Given the description of an element on the screen output the (x, y) to click on. 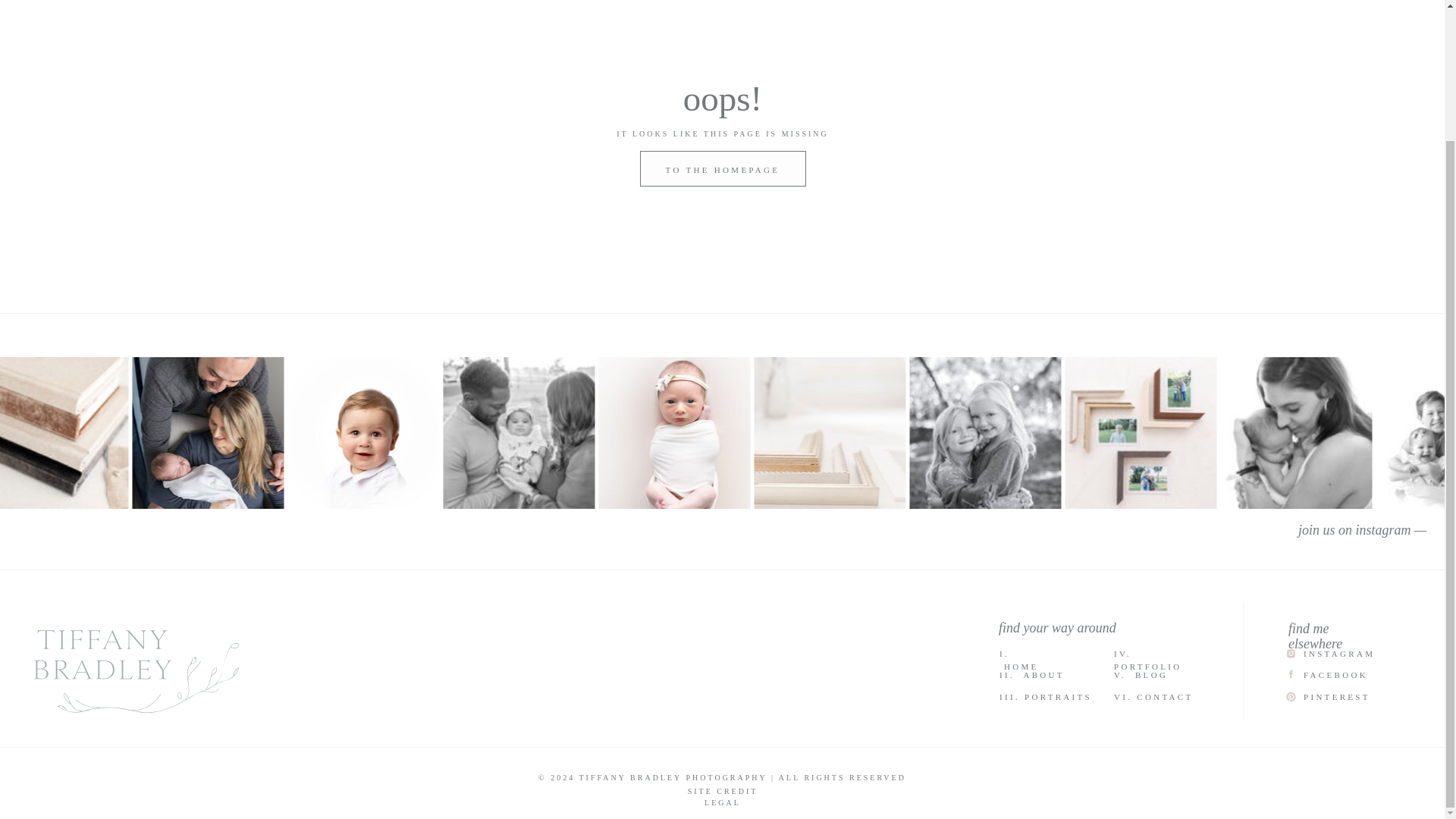
baby-photographer-savannah-georgia-10 (673, 432)
find your way around (1083, 626)
III. PORTRAITS (1045, 696)
TO THE HOMEPAGE (722, 177)
II.  ABOUT (1040, 674)
I.   HOME (1027, 653)
VI. CONTACT (1164, 696)
frame-corners-2 (829, 432)
outdoor-baby-session-savannah-georgia-2.jpg (518, 432)
find me elsewhere (1334, 627)
savannah-ga-newborn-photography-11 (1295, 432)
savannah-ga-childrens-photographer (984, 432)
PINTEREST (1336, 696)
FACEBOOK (1345, 674)
LEGAL (721, 801)
